Given the description of an element on the screen output the (x, y) to click on. 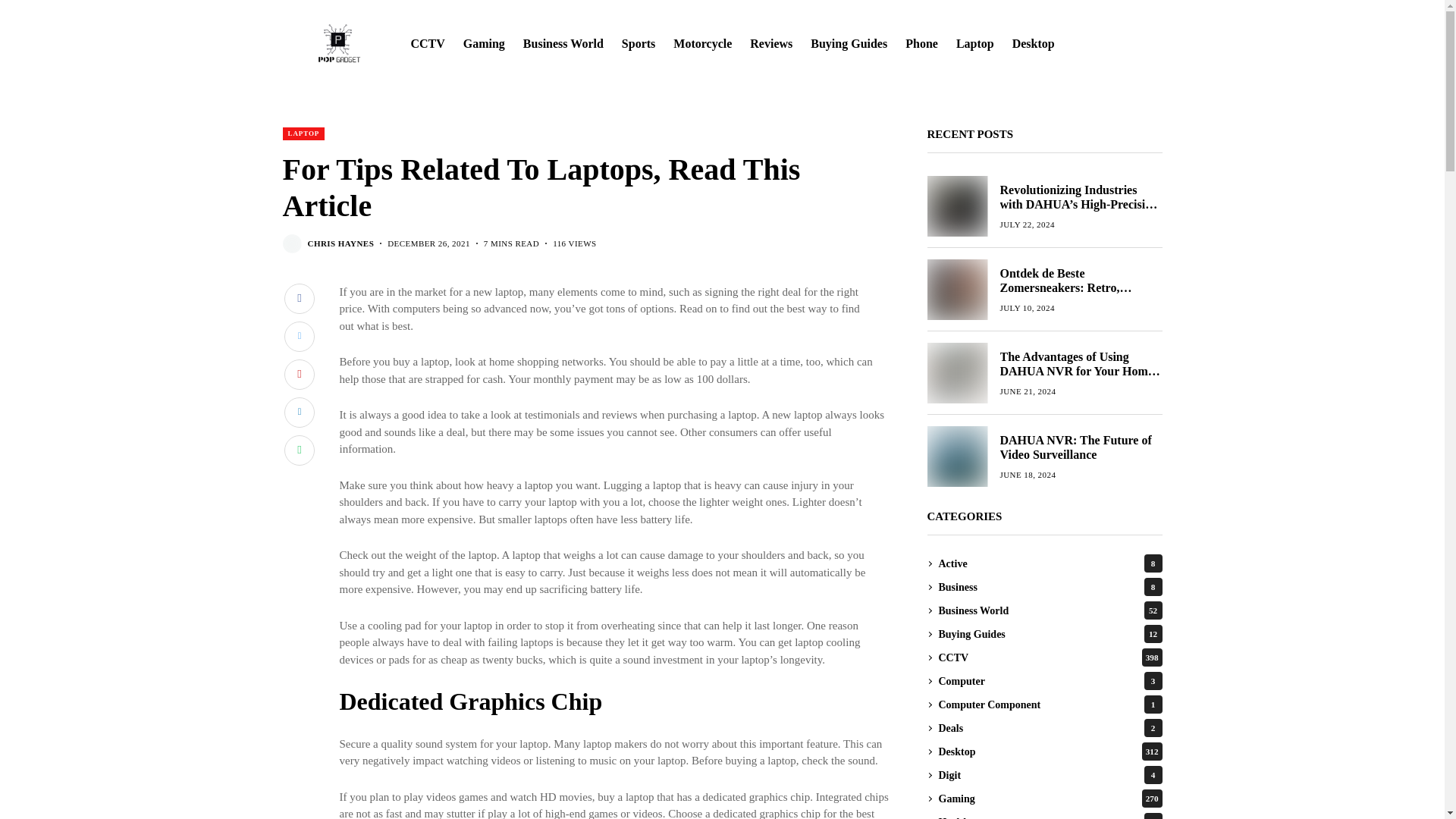
Business World (563, 43)
The Advantages of Using DAHUA NVR for Your Home Security (956, 373)
Motorcycle (702, 43)
Buying Guides (848, 43)
Posts by Chris Haynes (340, 243)
DAHUA NVR: The Future of Video Surveillance (956, 455)
